Given the description of an element on the screen output the (x, y) to click on. 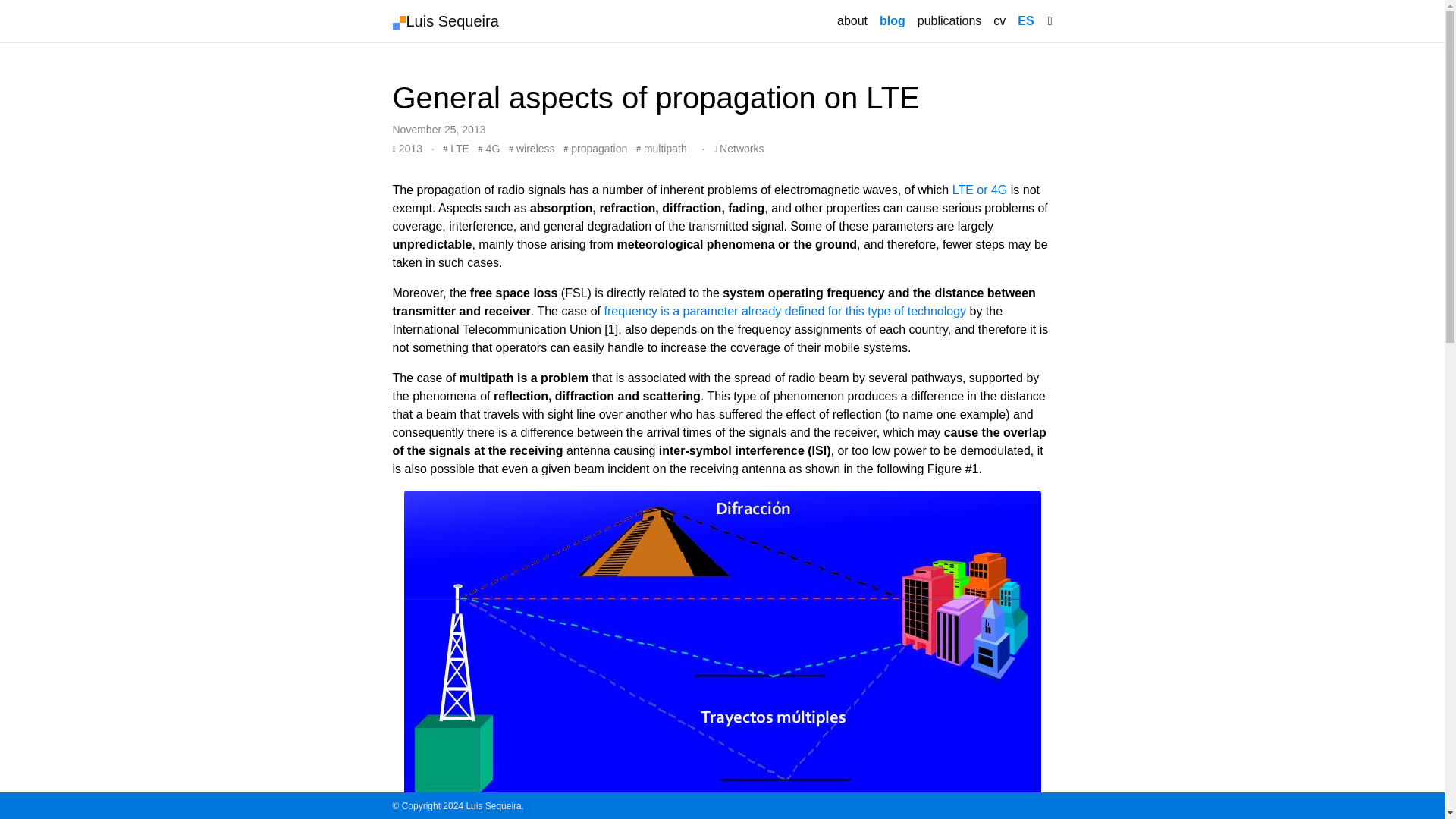
publications (949, 20)
propagation (595, 148)
2013 (409, 148)
4G (489, 148)
Luis Sequeira (446, 20)
Networks (738, 148)
LTE or 4G (979, 189)
multipath (661, 148)
about (852, 20)
LTE (455, 148)
ES (1025, 20)
wireless (531, 148)
